Given the description of an element on the screen output the (x, y) to click on. 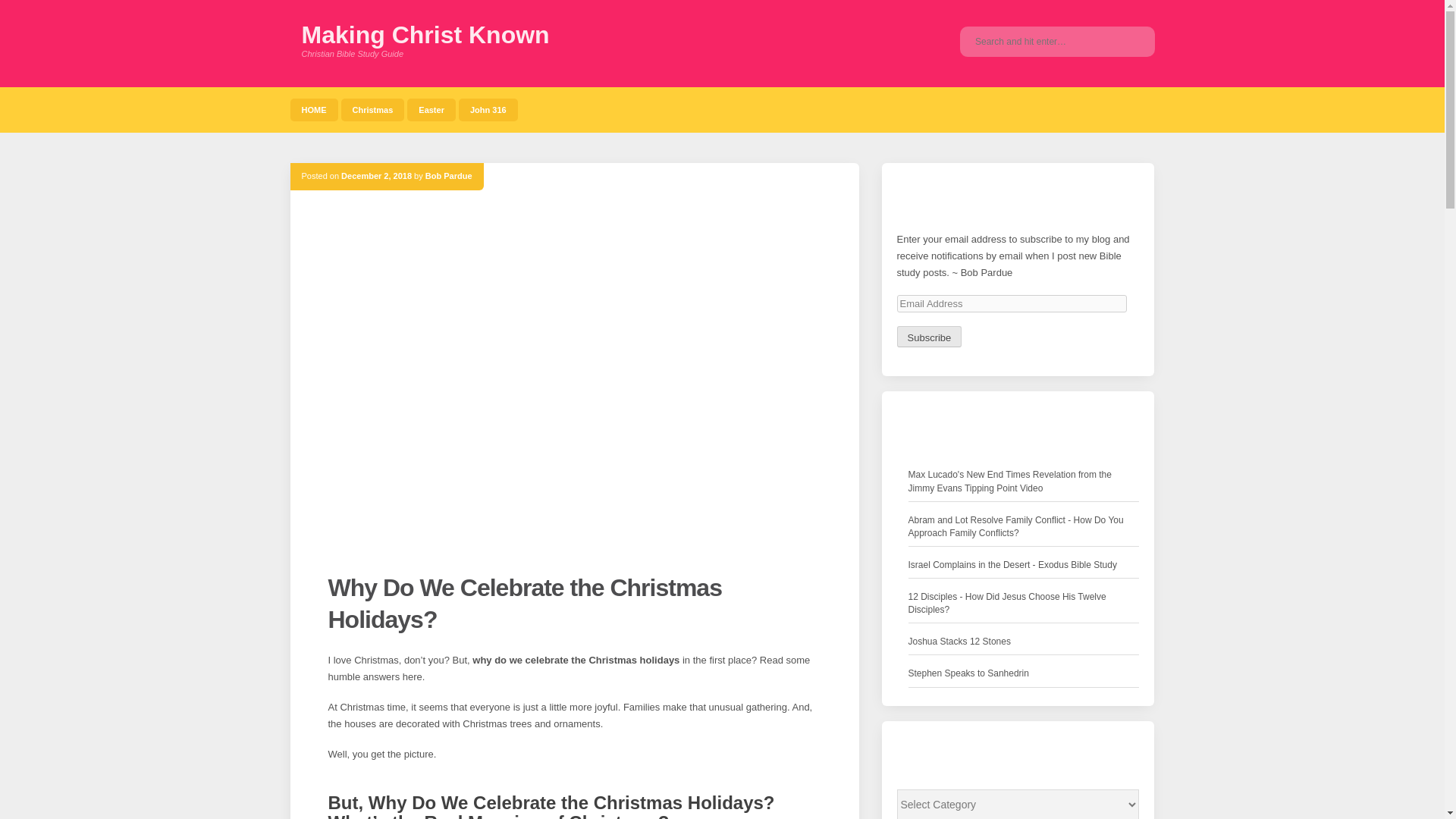
Christmas (372, 109)
Easter (431, 109)
December 2, 2018 (376, 175)
12 Disciples - How Did Jesus Choose His Twelve Disciples? (1024, 603)
Israel Complains in the Desert - Exodus Bible Study (1012, 565)
Bob Pardue (448, 175)
Stephen Speaks to Sanhedrin (968, 673)
HOME (313, 109)
Joshua Stacks 12 Stones (959, 641)
